Given the description of an element on the screen output the (x, y) to click on. 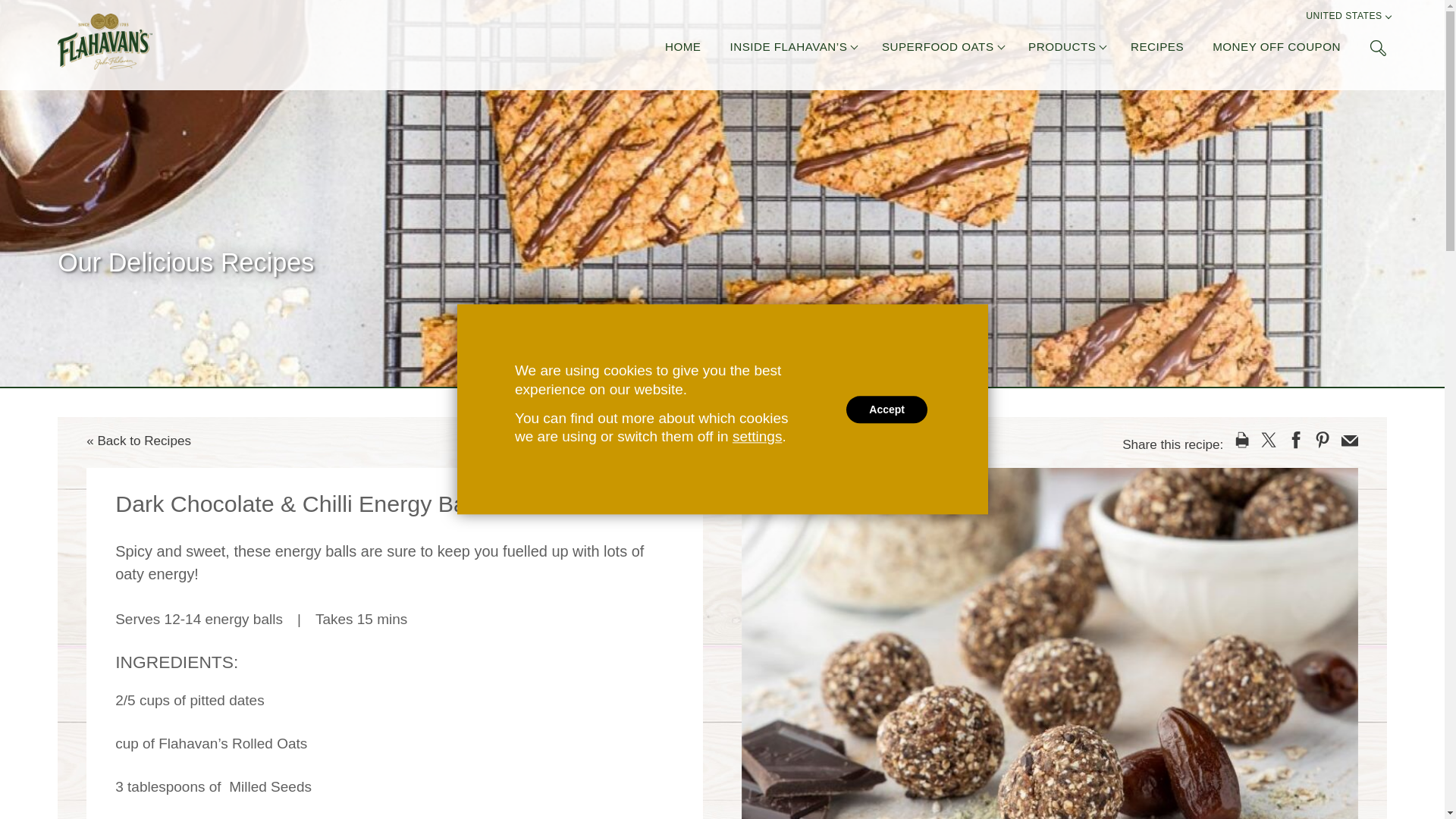
Twitter (1268, 439)
Facebook (1295, 439)
Print (1241, 439)
PRODUCTS (1061, 49)
MONEY OFF COUPON (1276, 49)
RECIPES (1157, 49)
FLAHAVAN'S, NOT YOUR RUN OF THE MILL OATS (105, 41)
SUPERFOOD OATS (938, 49)
HOME (683, 49)
Email (1349, 439)
SEARCH (1378, 47)
UNITED STATES (1343, 18)
